Given the description of an element on the screen output the (x, y) to click on. 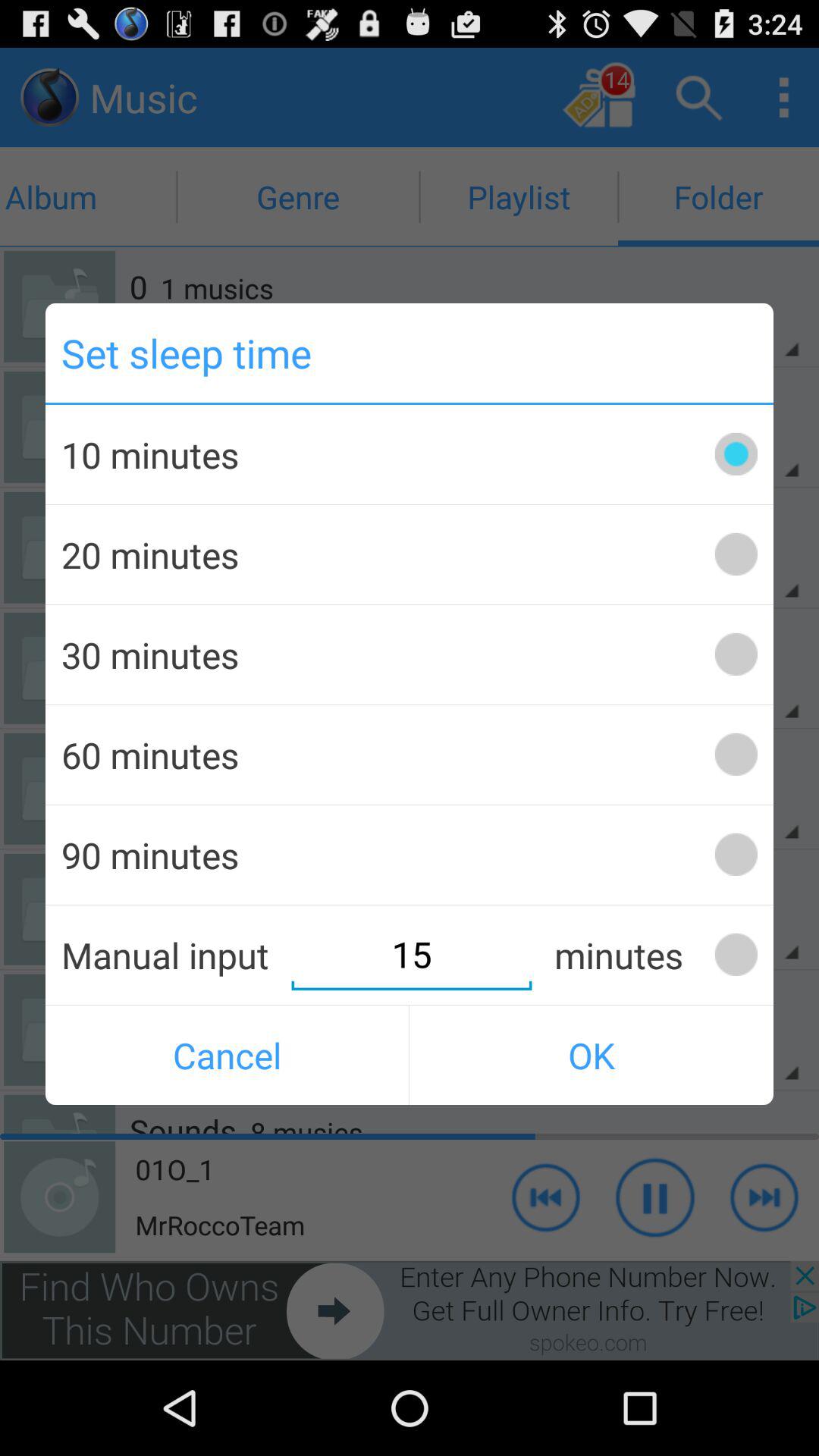
sleep in one hour (735, 754)
